Given the description of an element on the screen output the (x, y) to click on. 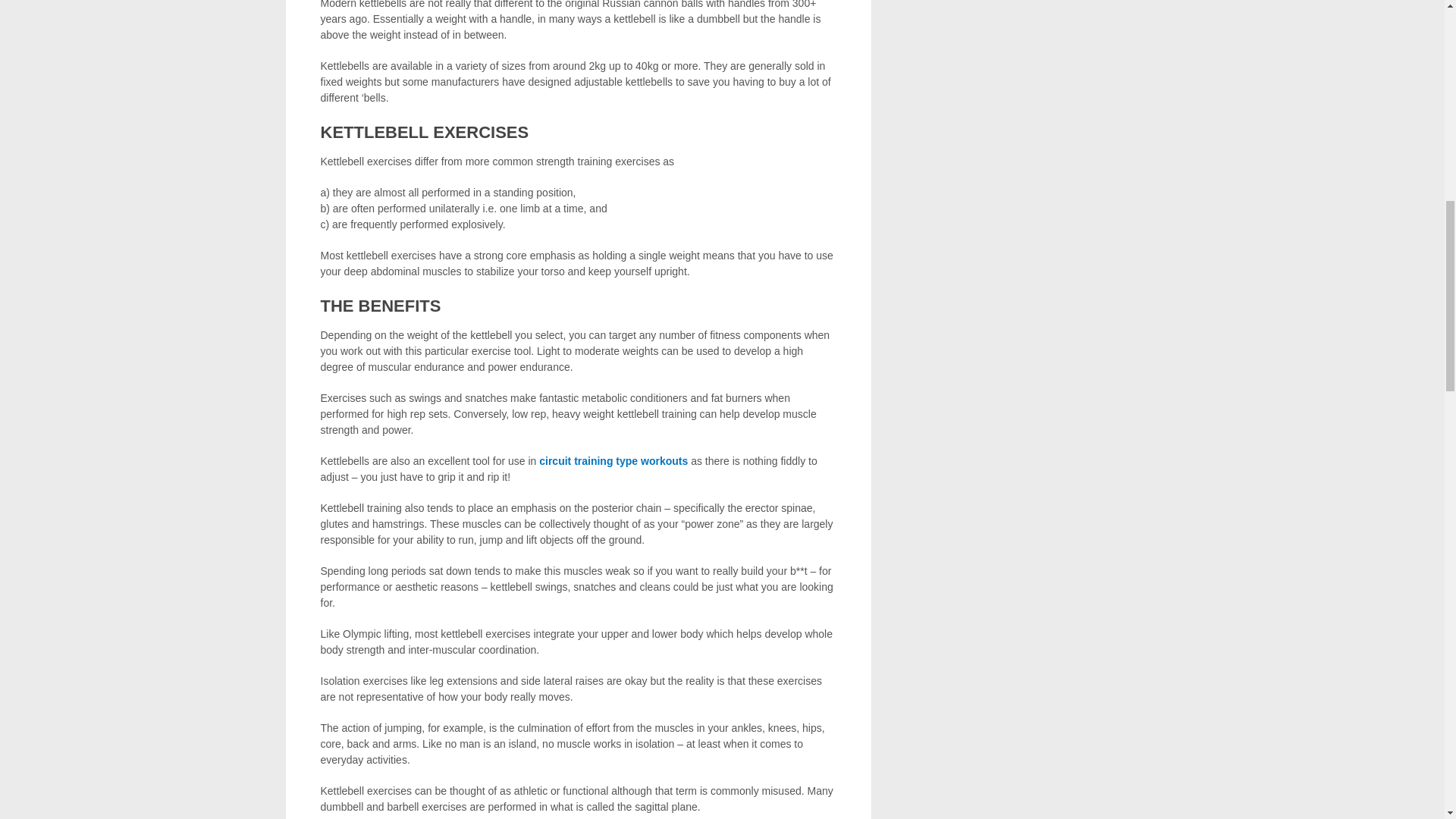
Circuit training (611, 460)
